Given the description of an element on the screen output the (x, y) to click on. 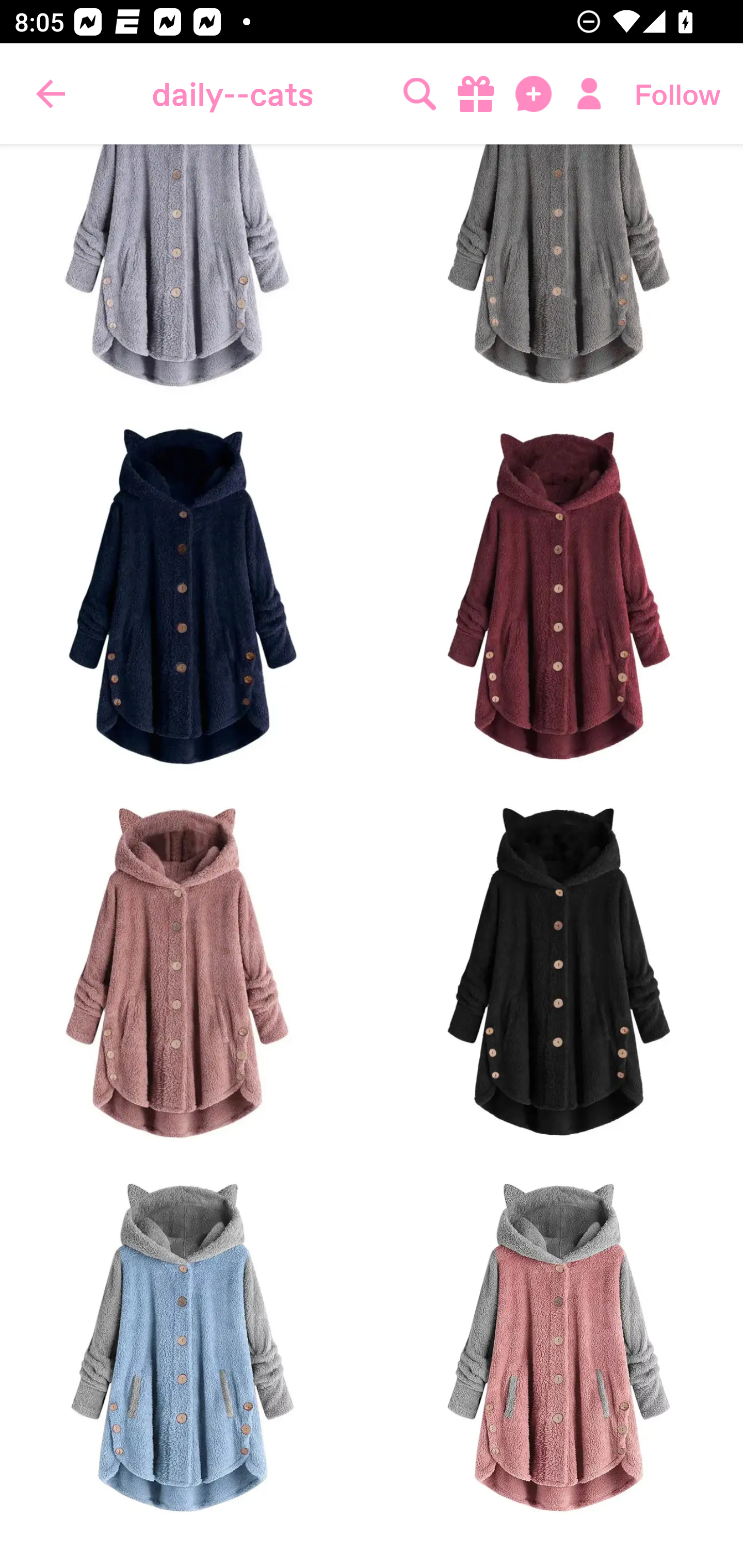
Navigate up (50, 93)
Messages (535, 93)
Follow (677, 93)
